Given the description of an element on the screen output the (x, y) to click on. 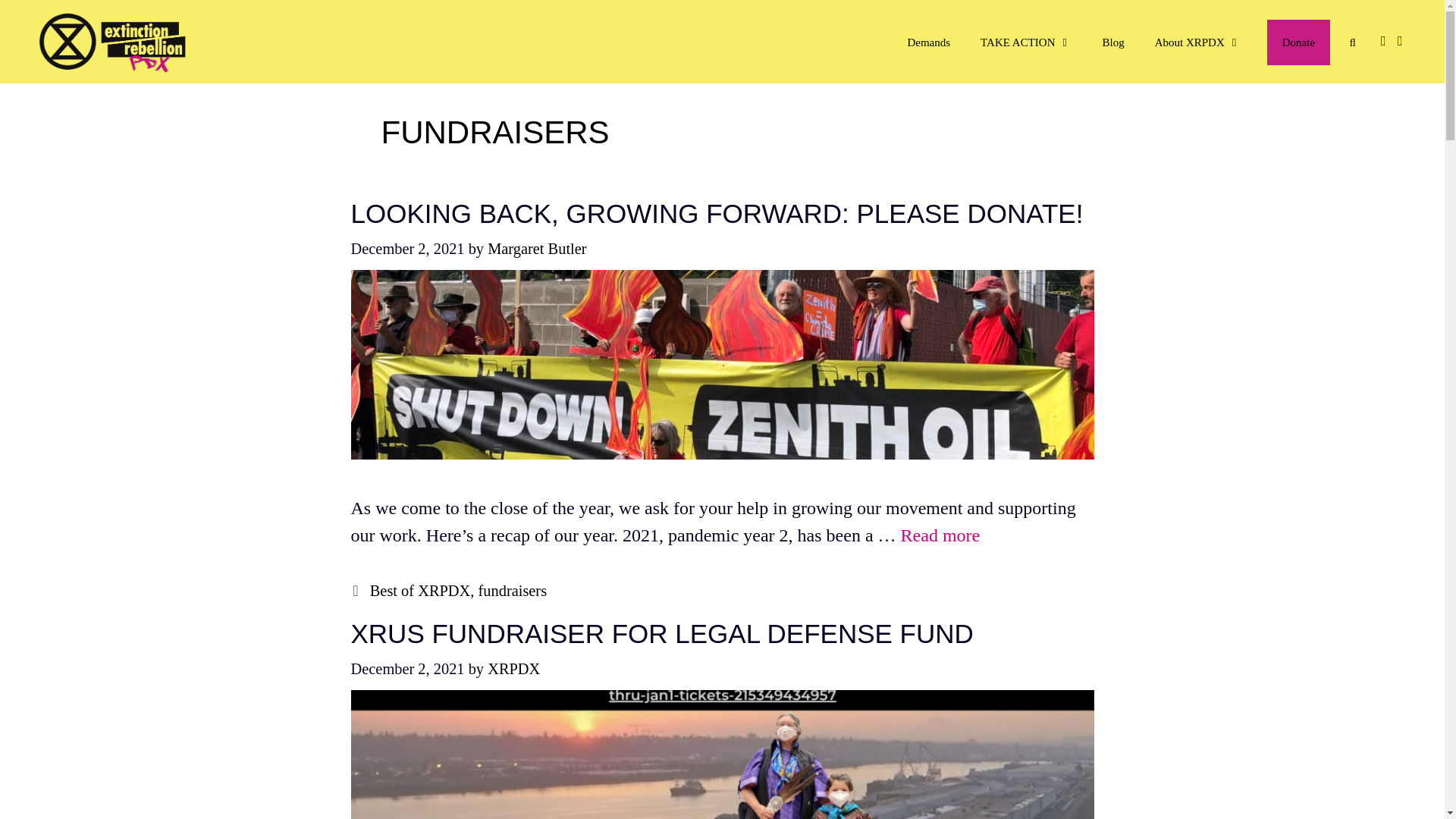
TAKE ACTION (1025, 42)
About XRPDX (1198, 42)
Demands (928, 42)
fundraisers (512, 590)
XRUS FUNDRAISER FOR LEGAL DEFENSE FUND (661, 633)
View all posts by XRPDX (513, 668)
LOOKING BACK, GROWING FORWARD: PLEASE DONATE! (716, 213)
Margaret Butler (536, 248)
Read more (940, 535)
Best of XRPDX (419, 590)
